Given the description of an element on the screen output the (x, y) to click on. 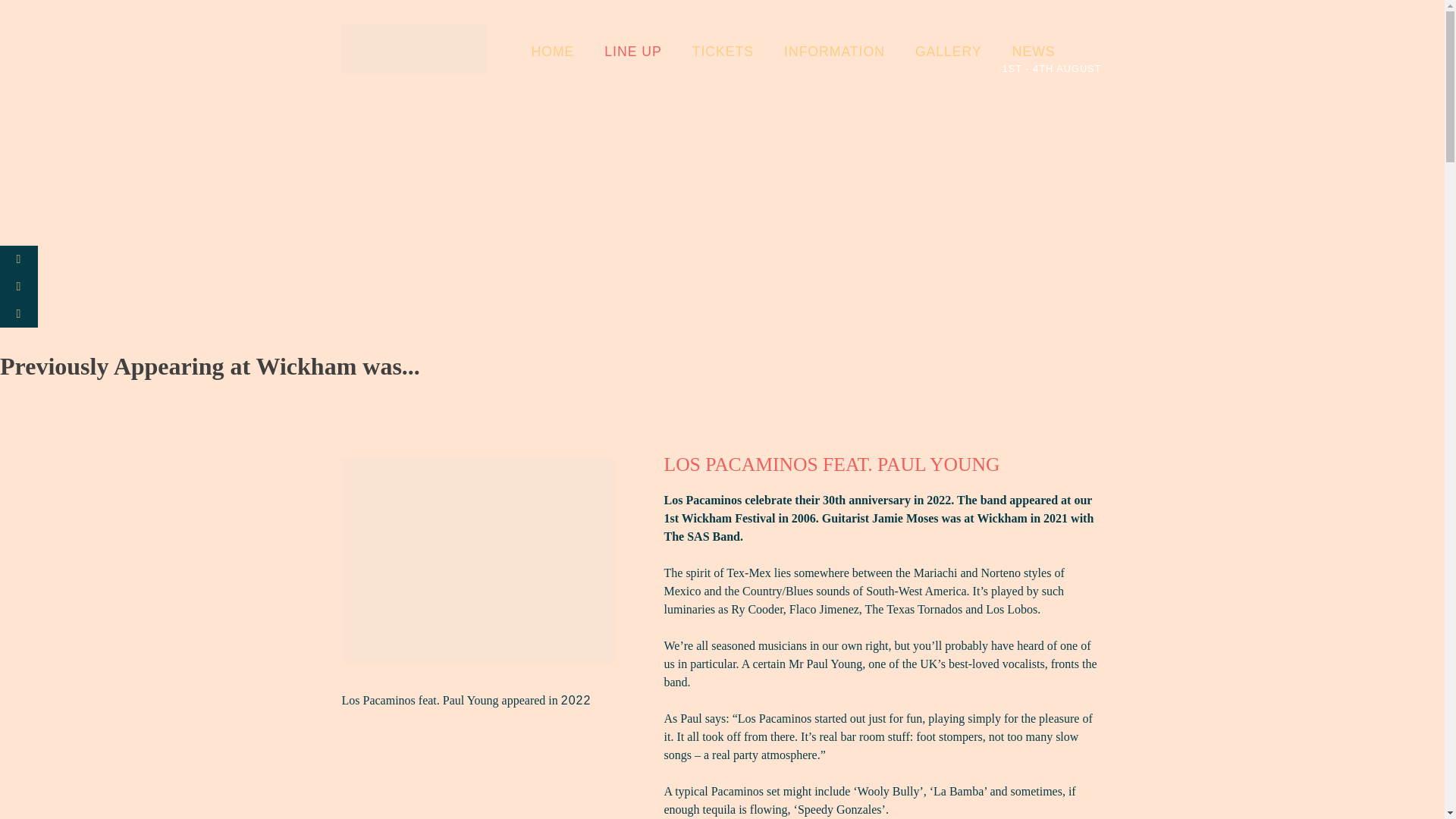
1ST - 4TH AUGUST (1052, 43)
INFORMATION (819, 51)
GALLERY (933, 51)
TICKETS (708, 51)
HOME (536, 51)
LINE UP (617, 51)
